Given the description of an element on the screen output the (x, y) to click on. 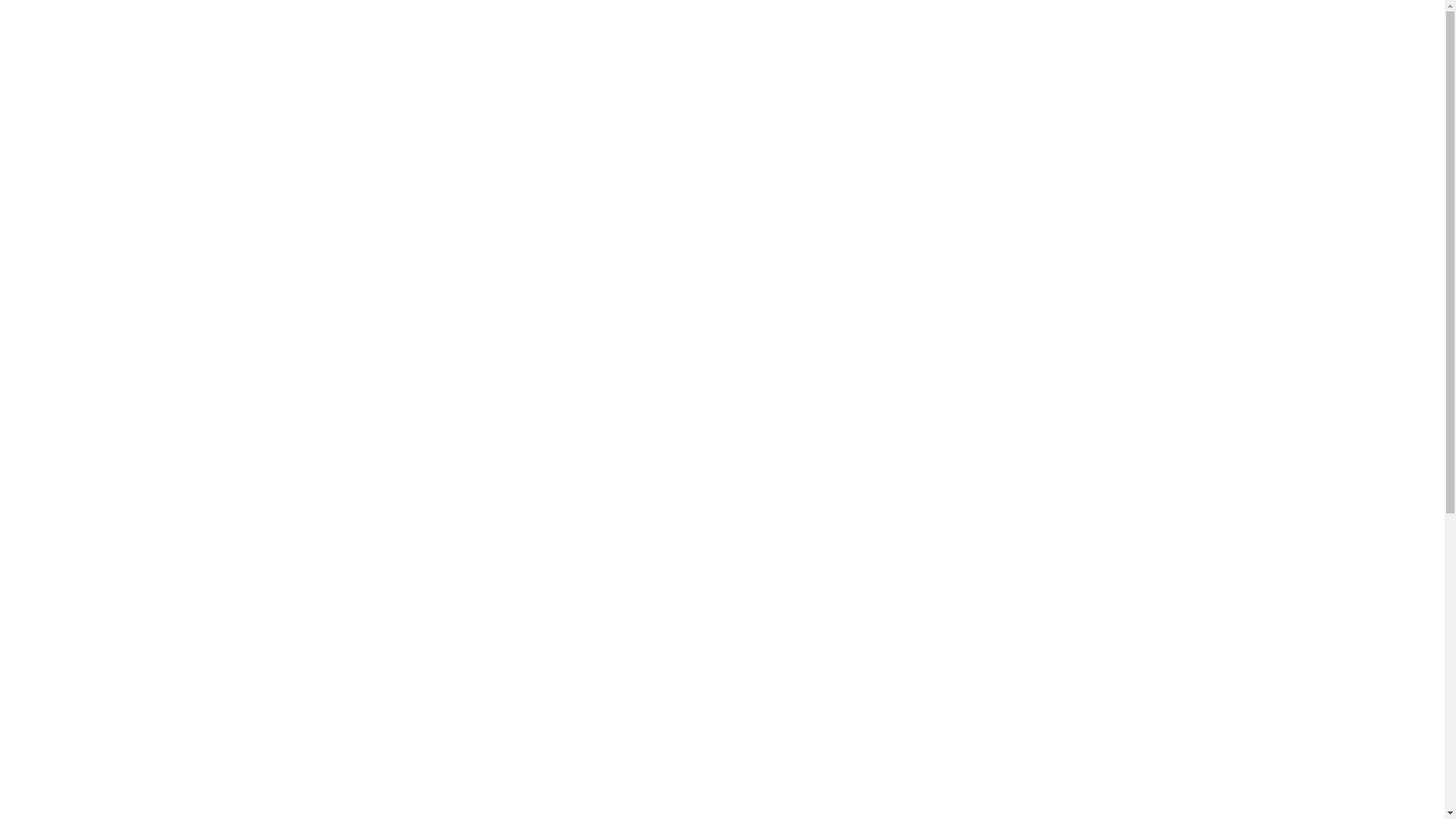
Why Us Element type: text (559, 59)
Reserve a Unit Element type: text (379, 59)
Rent Today Element type: text (34, 679)
Make a Payment Element type: text (264, 59)
Account Login Element type: text (42, 12)
My Account Element type: text (153, 59)
Reserve Today Element type: text (101, 679)
Site Tour Element type: text (478, 59)
Home Element type: text (68, 59)
Home Element type: text (50, 92)
Open in Google Maps Element type: text (50, 771)
